Given the description of an element on the screen output the (x, y) to click on. 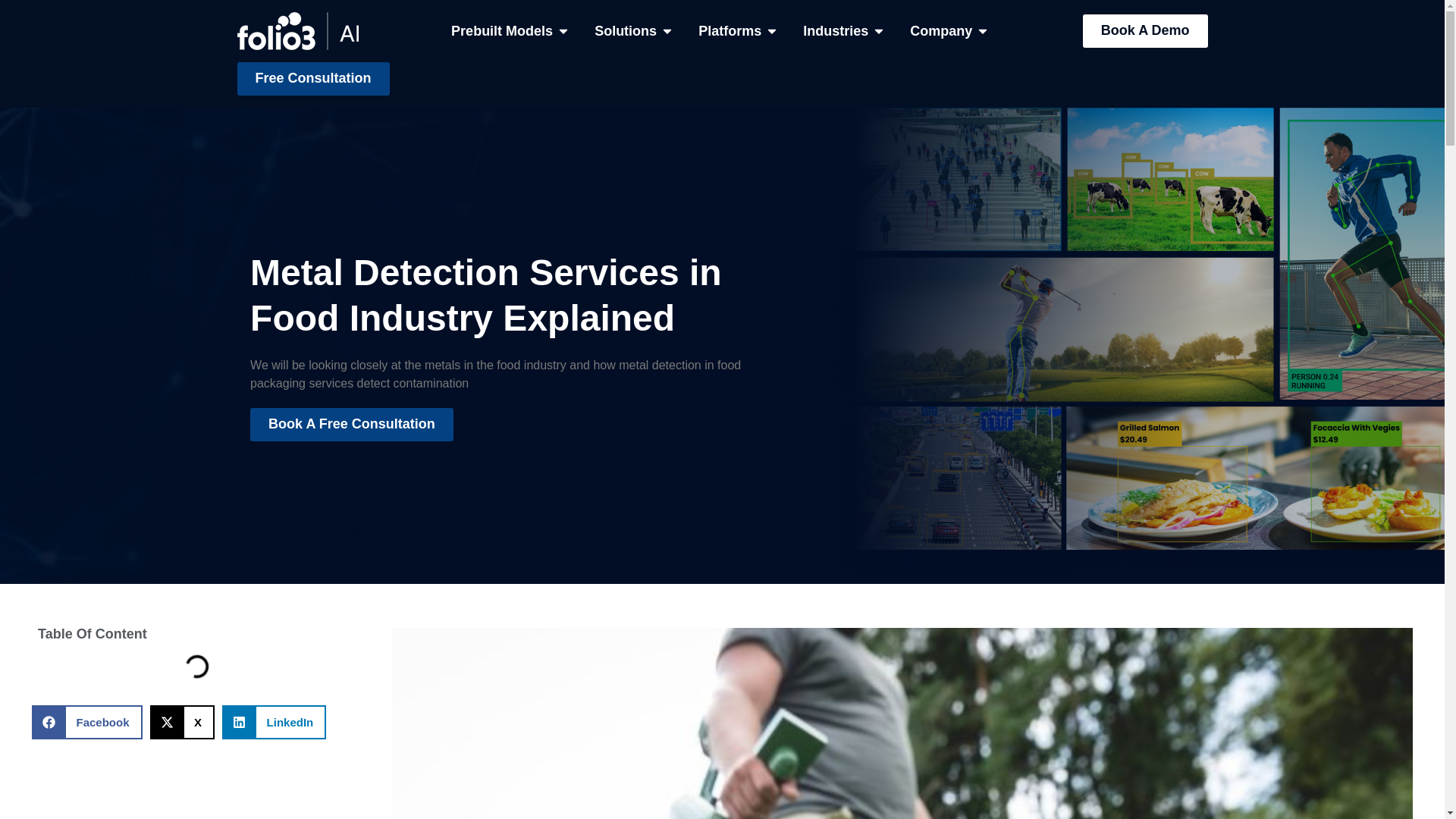
Company (941, 0)
